Given the description of an element on the screen output the (x, y) to click on. 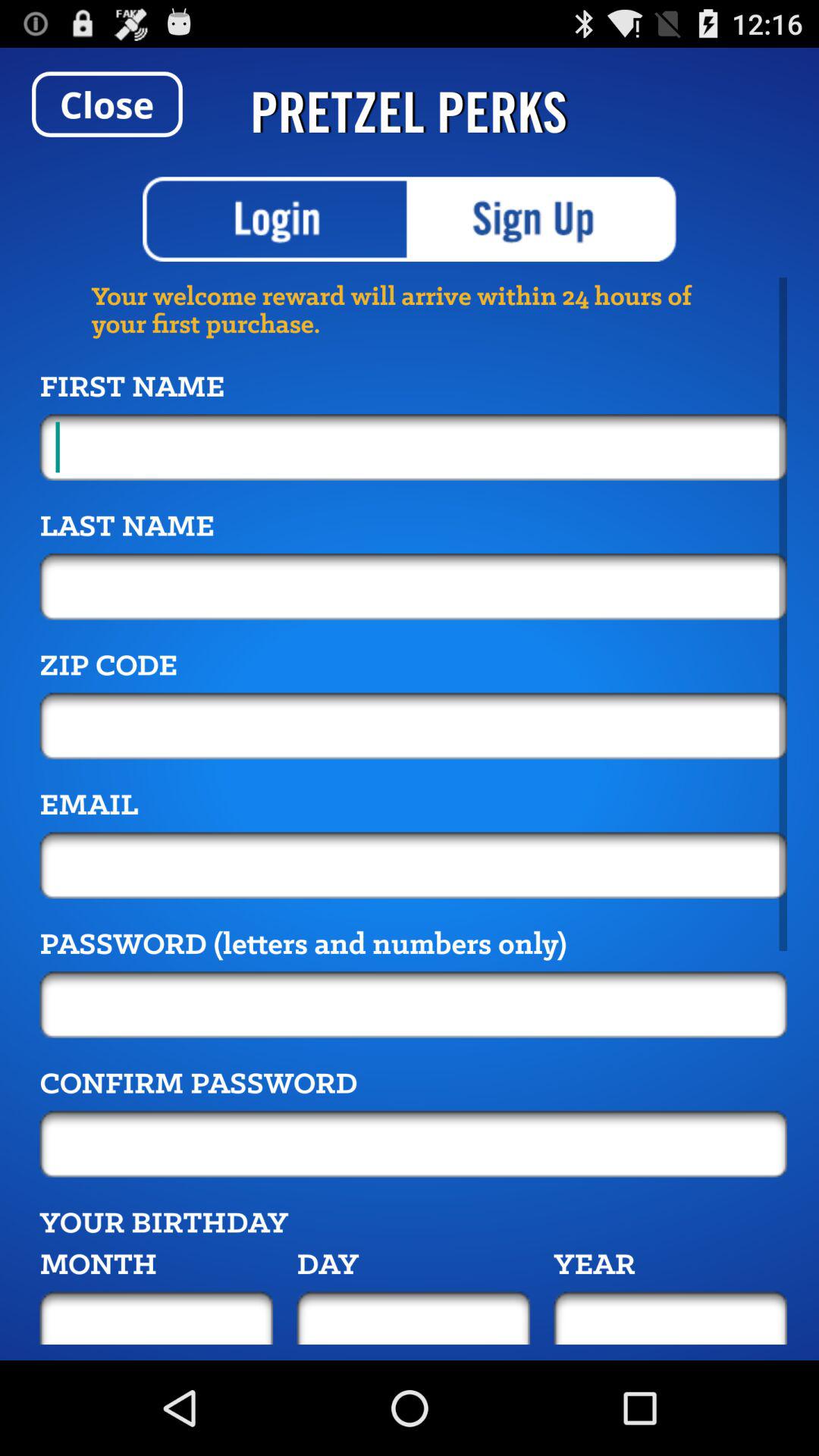
fill the field with your first name (413, 447)
